Given the description of an element on the screen output the (x, y) to click on. 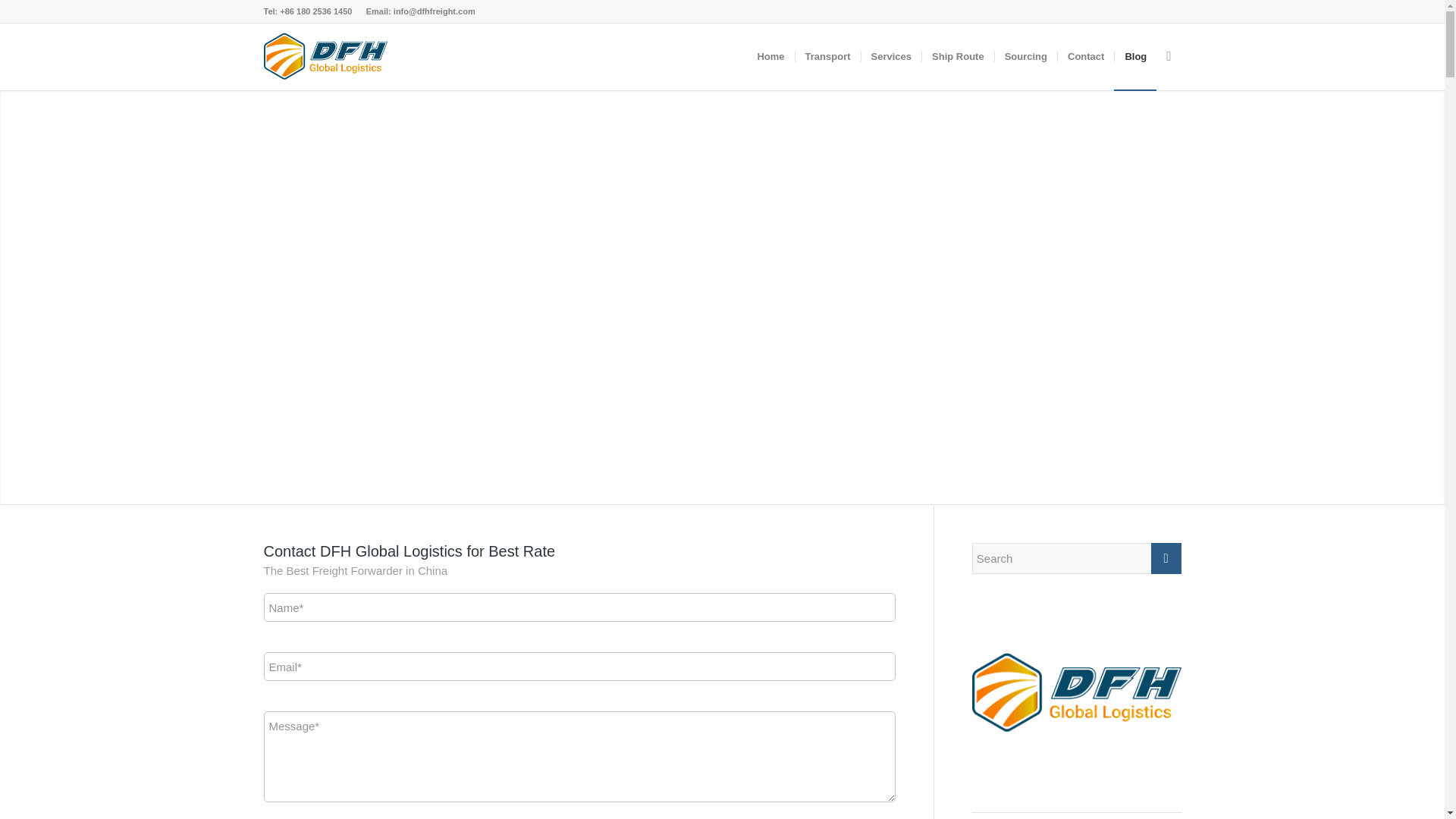
Ship Route (957, 56)
Services (890, 56)
face (1025, 56)
Transport (827, 56)
